Given the description of an element on the screen output the (x, y) to click on. 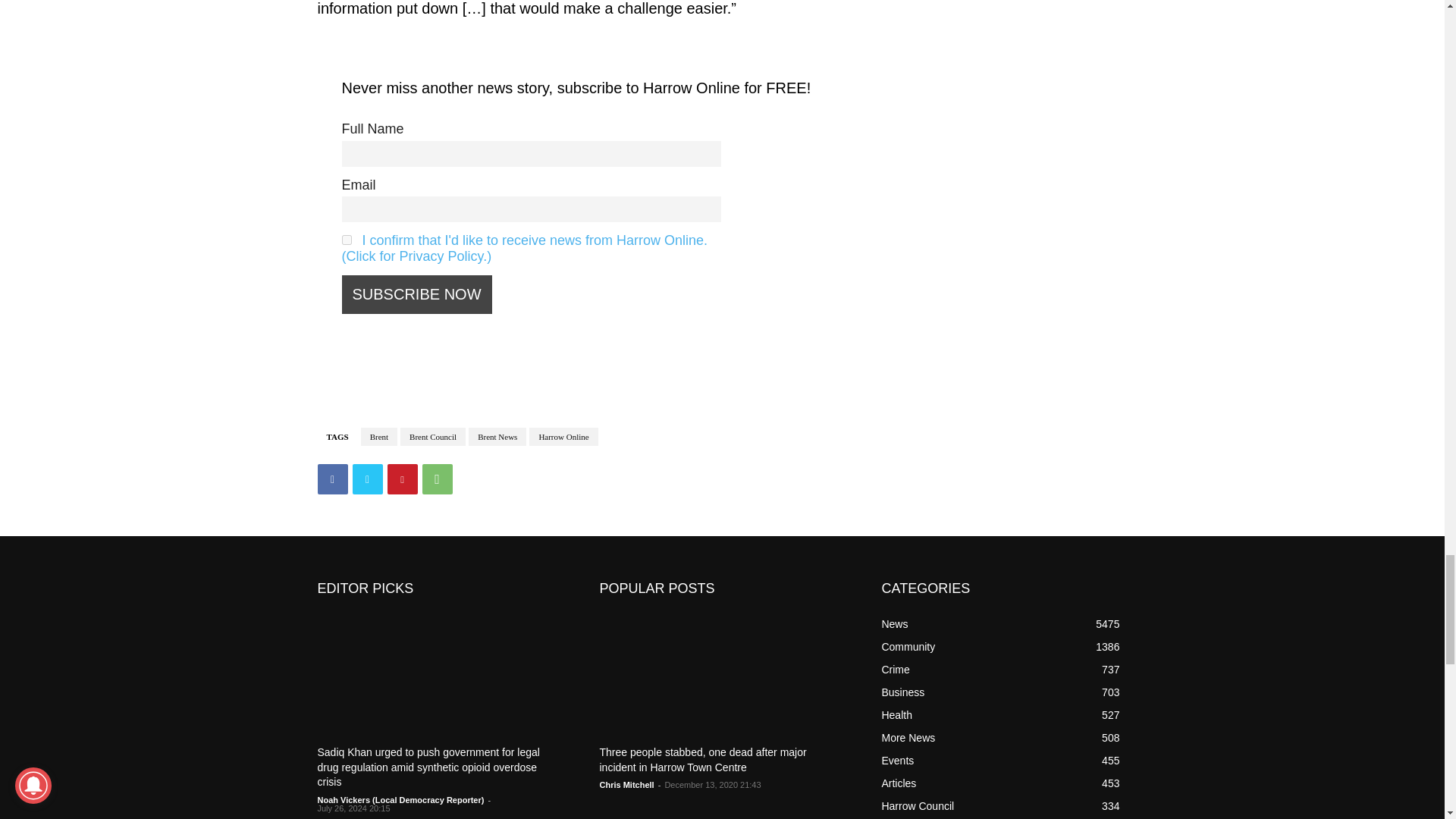
SUBSCRIBE NOW (416, 294)
on (345, 239)
